Given the description of an element on the screen output the (x, y) to click on. 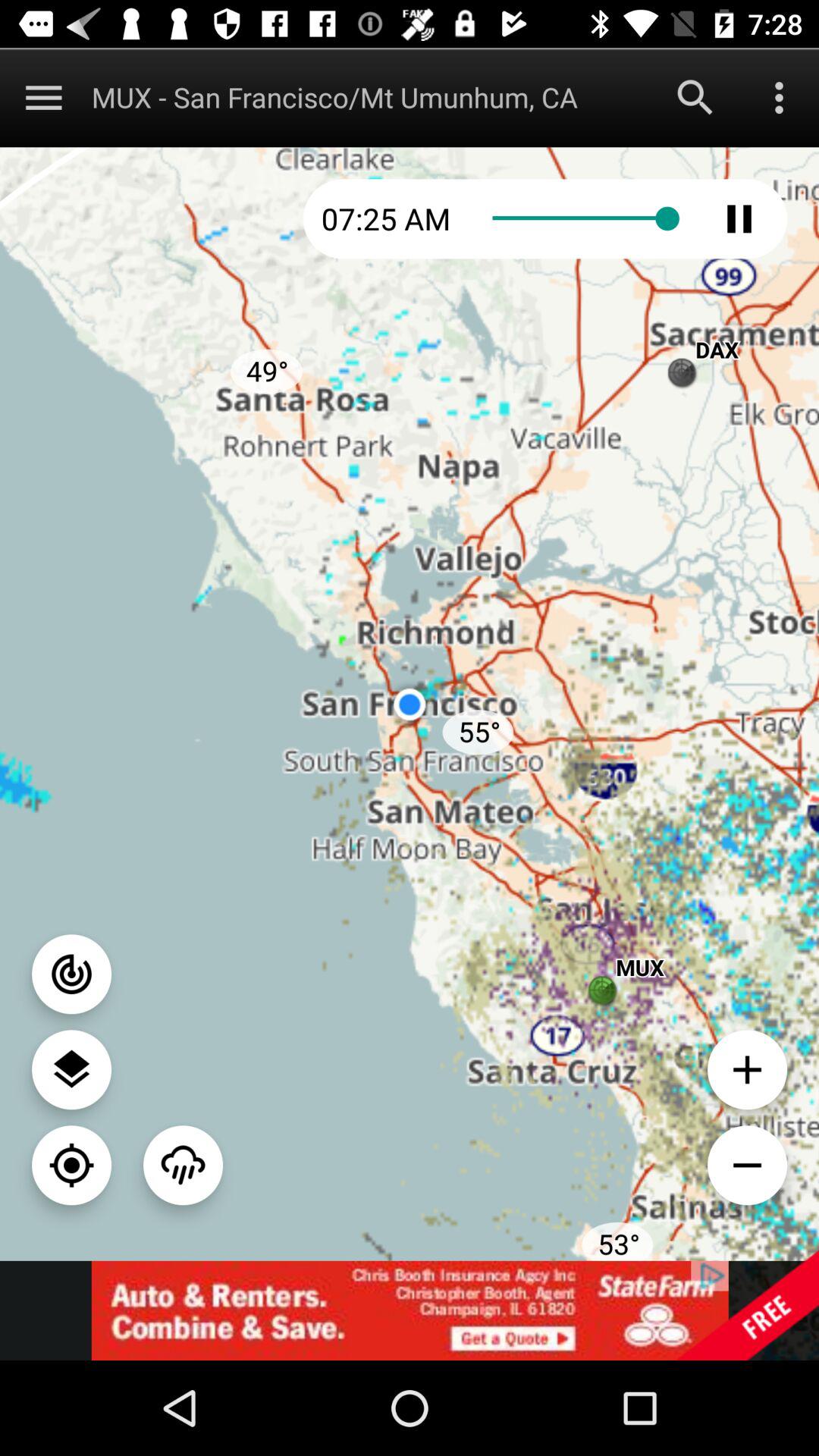
option (779, 97)
